Given the description of an element on the screen output the (x, y) to click on. 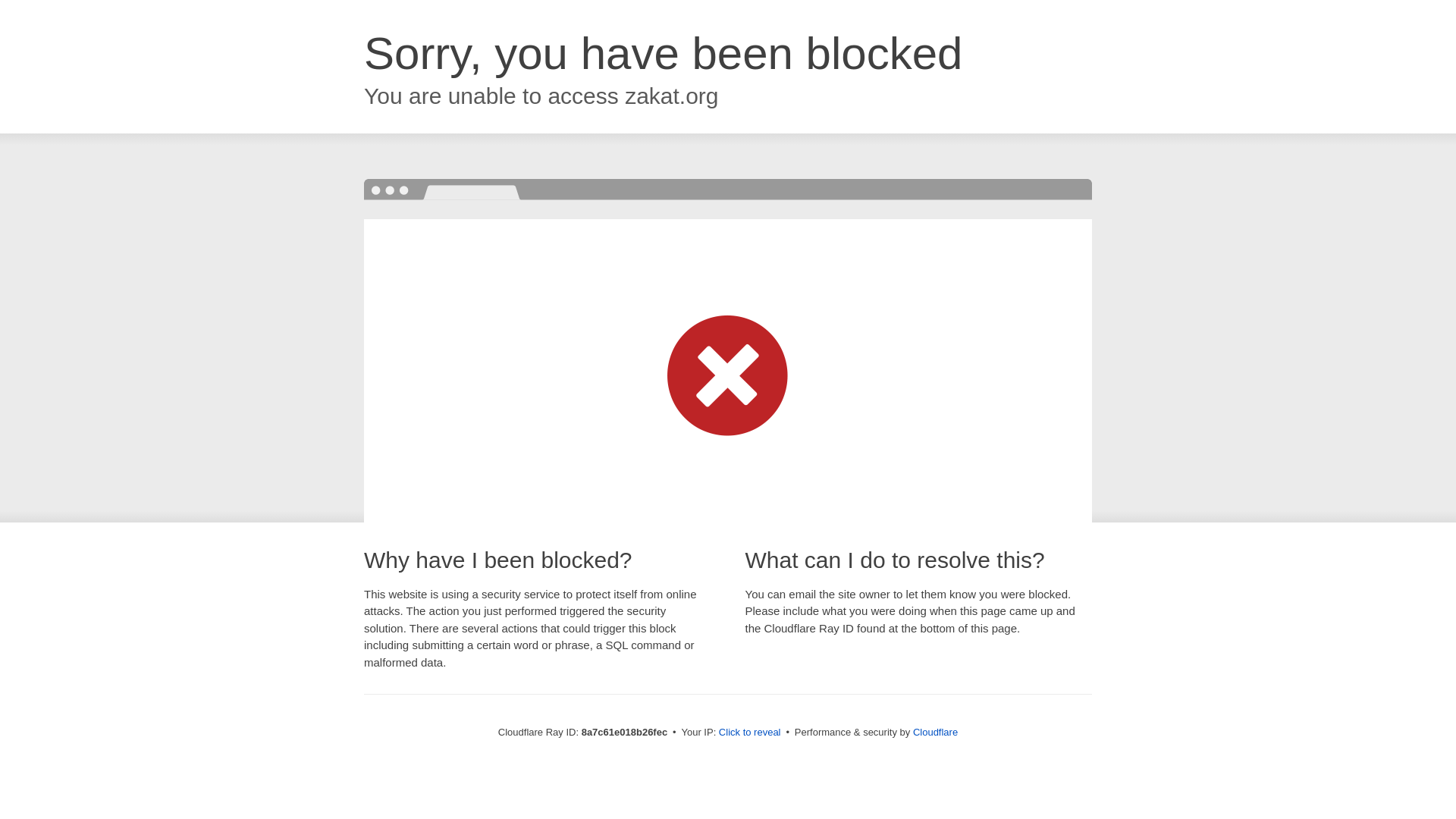
Click to reveal (749, 732)
Cloudflare (935, 731)
